Given the description of an element on the screen output the (x, y) to click on. 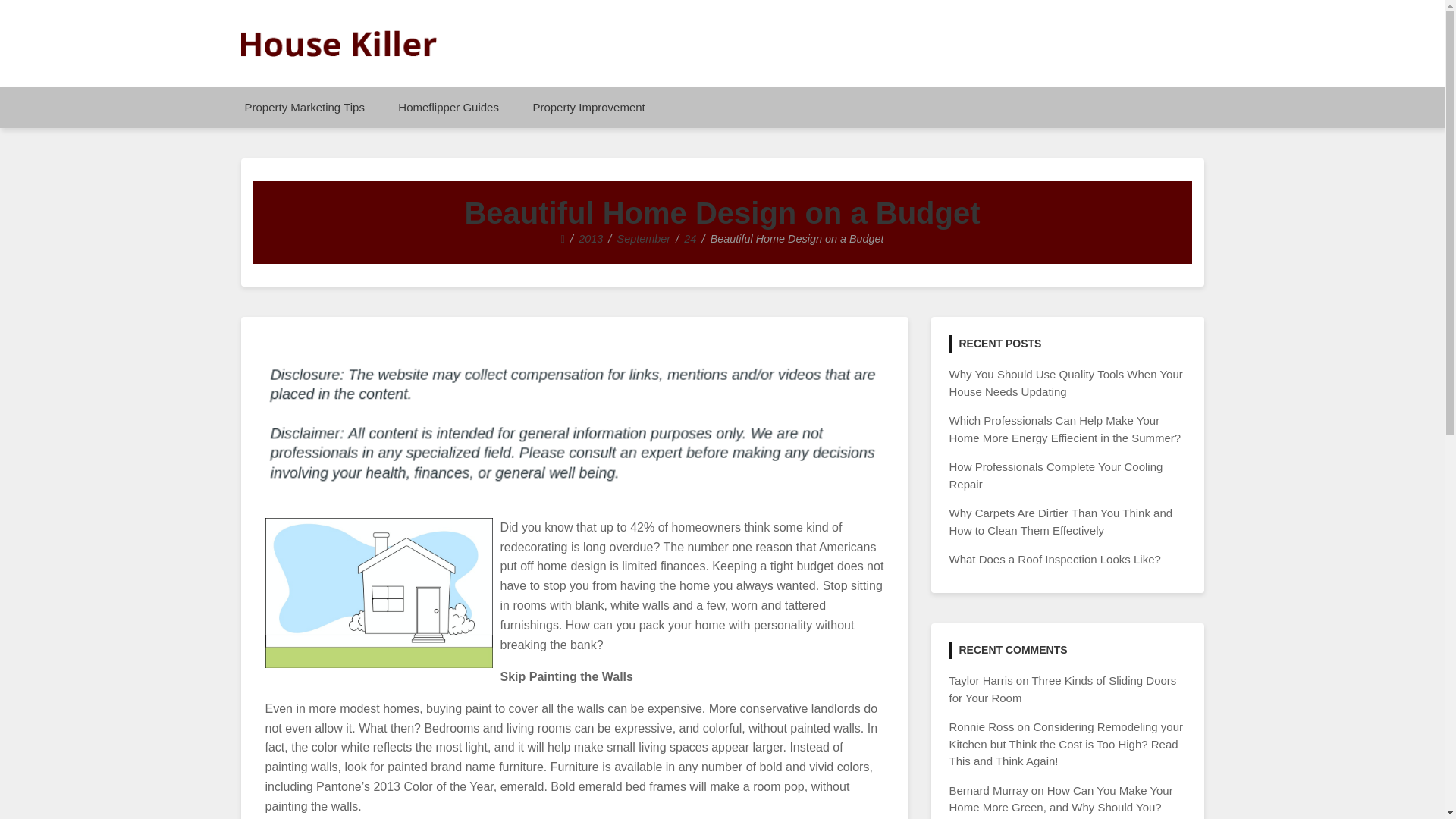
Property Marketing Tips (303, 106)
What Does a Roof Inspection Looks Like? (1054, 558)
Homeflipper Guides (447, 106)
How Professionals Complete Your Cooling Repair (1056, 475)
2013 (590, 238)
Property Improvement (587, 106)
24 (689, 238)
Three Kinds of Sliding Doors for Your Room (1062, 689)
House Killer (322, 71)
September (643, 238)
